Given the description of an element on the screen output the (x, y) to click on. 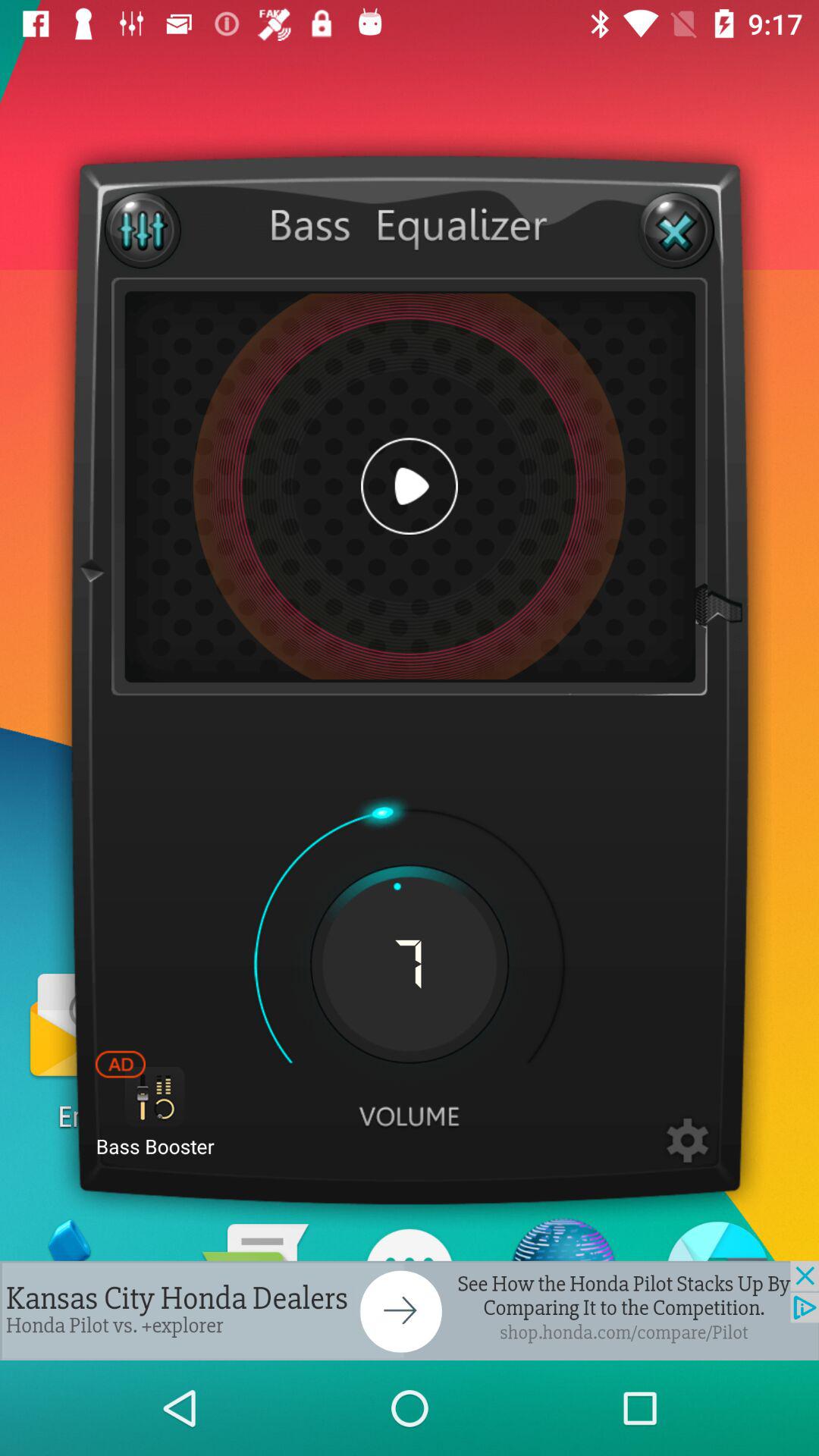
close the equalizer (676, 230)
